Given the description of an element on the screen output the (x, y) to click on. 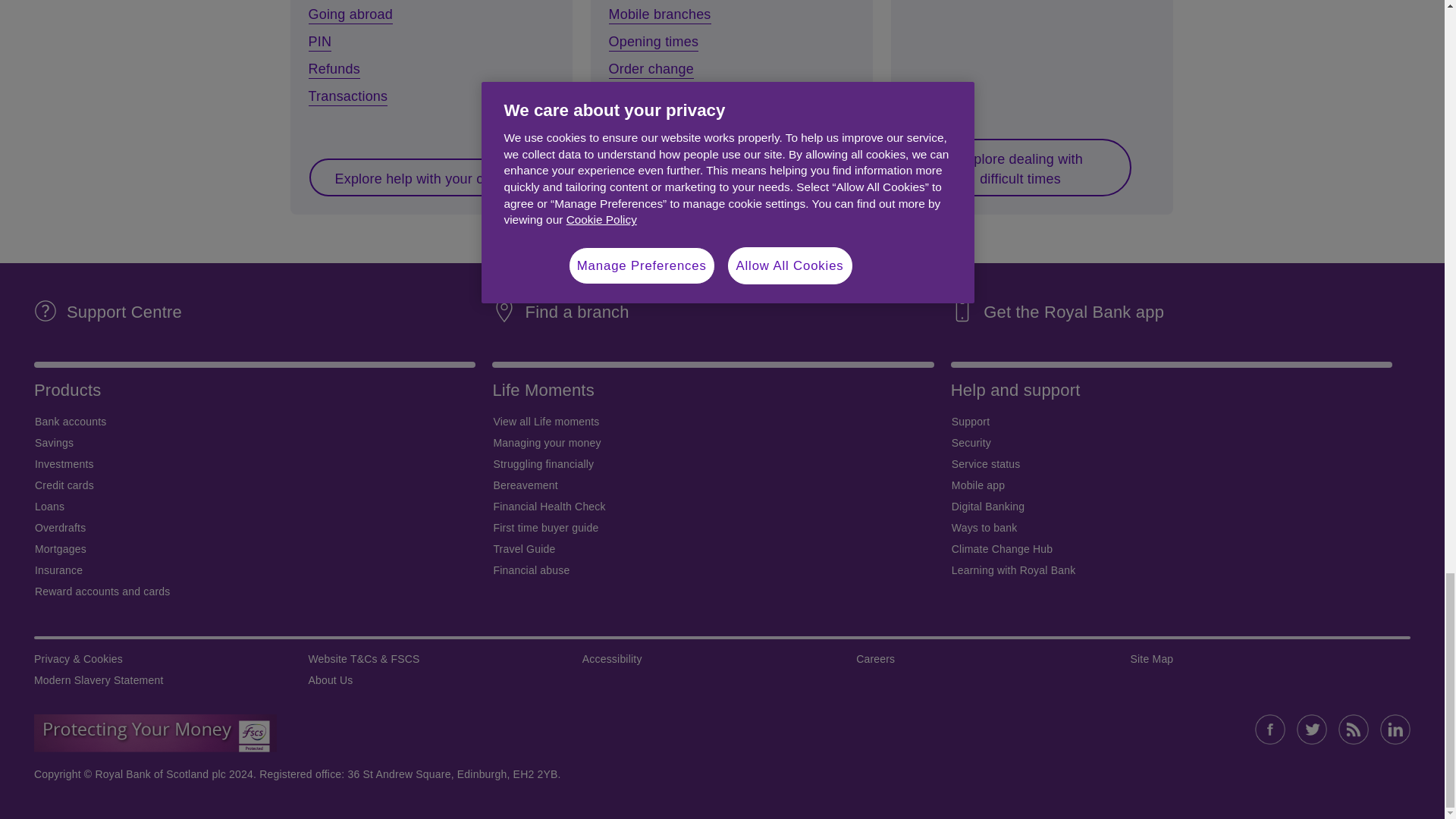
Explore banking near me (712, 176)
Explore dealing with difficult times (1019, 167)
fscs (154, 733)
Explore help with your card (418, 176)
